Given the description of an element on the screen output the (x, y) to click on. 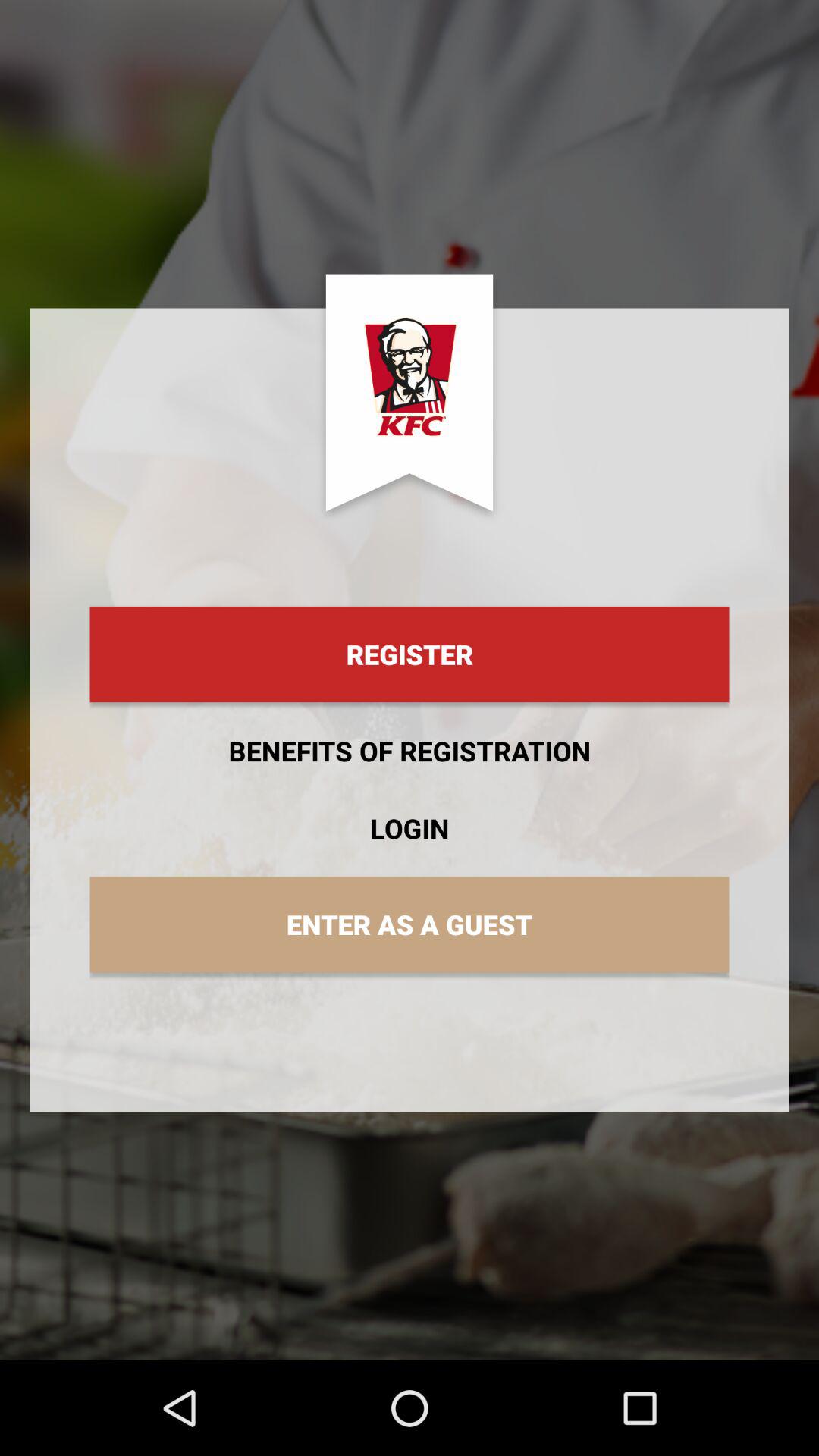
flip to the register icon (409, 654)
